Given the description of an element on the screen output the (x, y) to click on. 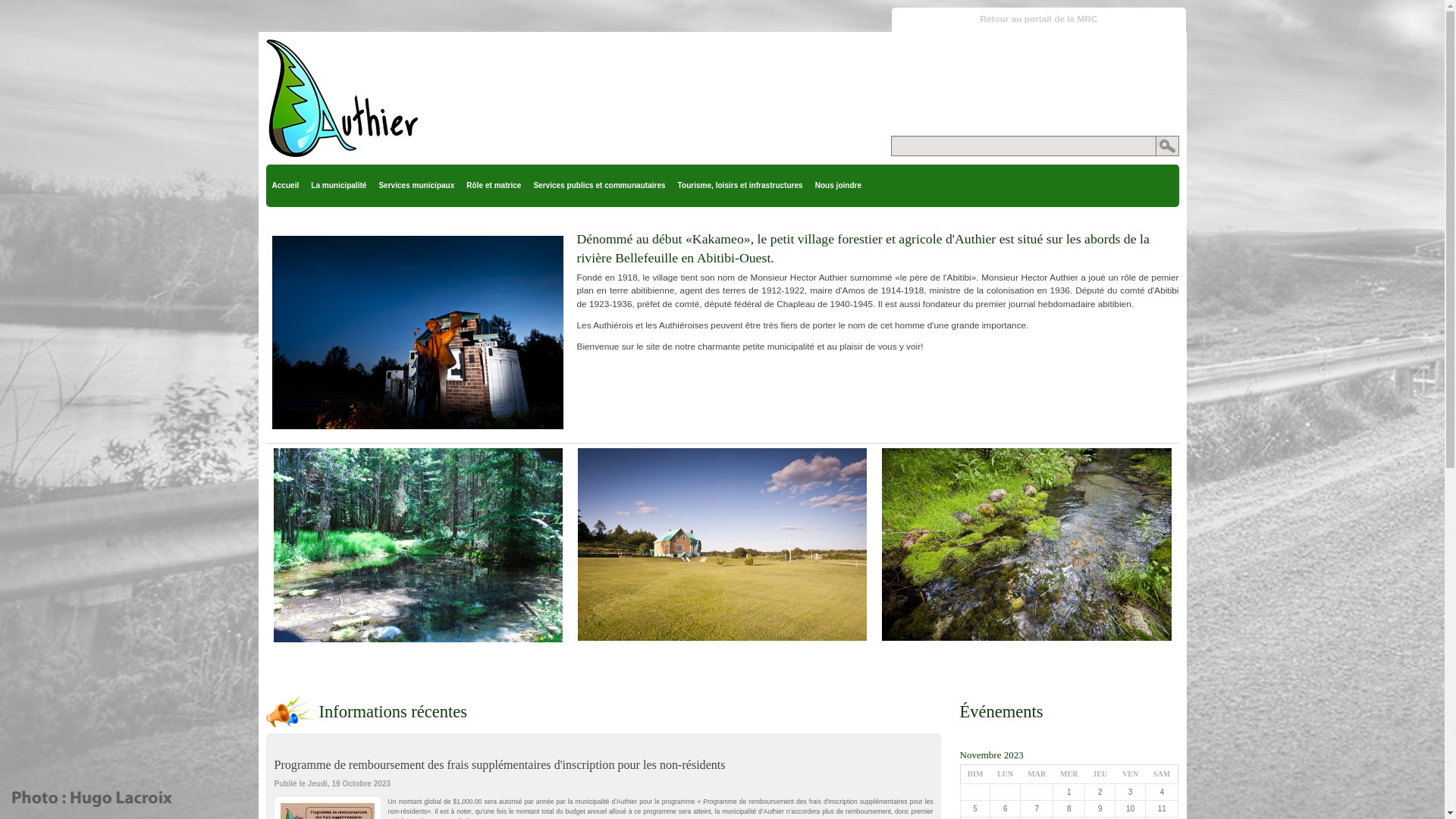
Retour au portail de la MRC Element type: text (1038, 19)
Services publics et communautaires Element type: text (599, 185)
Services municipaux Element type: text (416, 185)
Nous joindre Element type: text (838, 185)
Tourisme, loisirs et infrastructures Element type: text (740, 185)
Accueil Element type: text (284, 185)
